Given the description of an element on the screen output the (x, y) to click on. 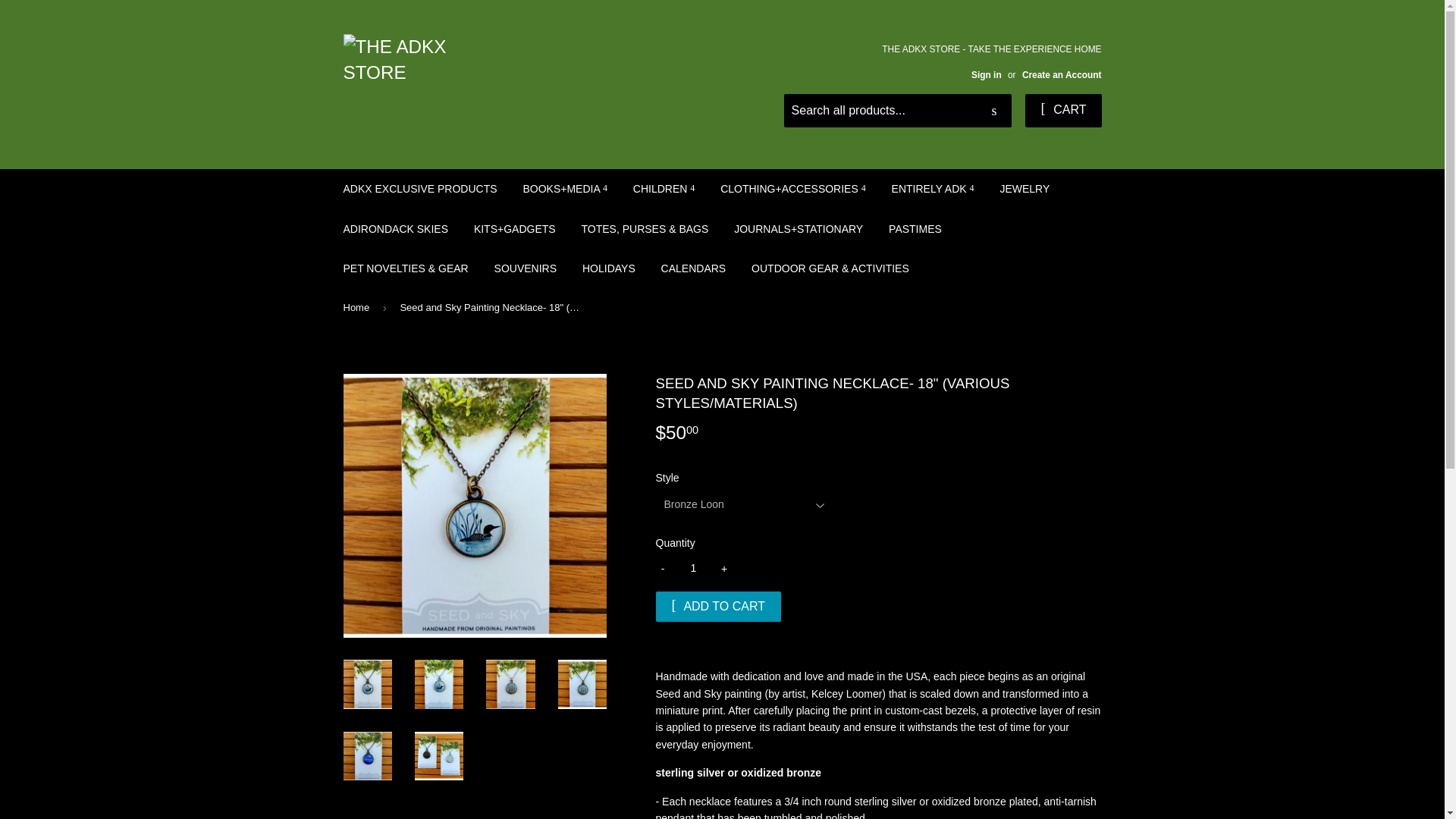
CART (1062, 110)
Sign in (986, 74)
Create an Account (1062, 74)
1 (692, 568)
Search (993, 111)
